Given the description of an element on the screen output the (x, y) to click on. 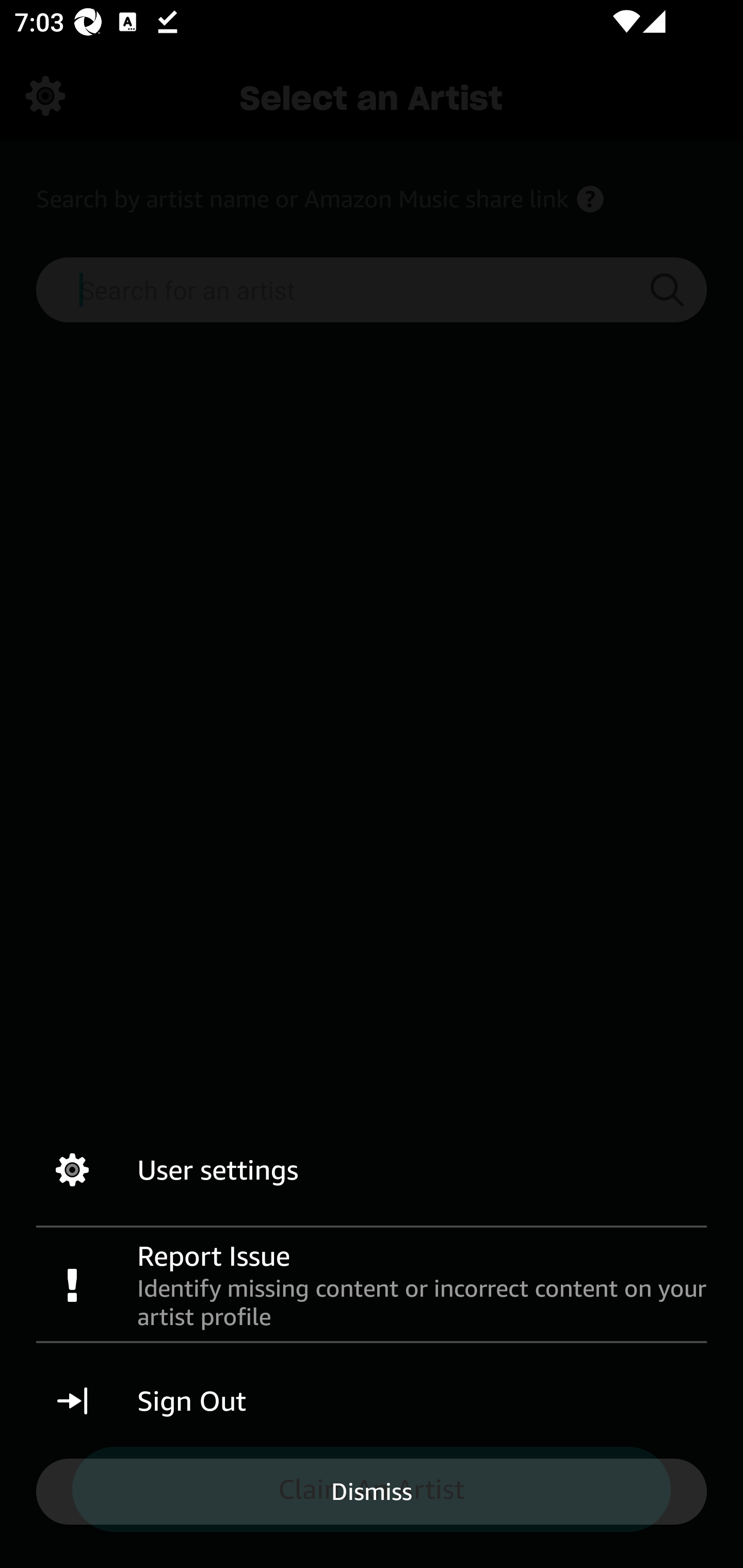
User settings  icon User settings User settings (371, 1169)
Sign Out  icon Sign Out Sign Out (371, 1400)
Dismiss button Dismiss (371, 1491)
